Given the description of an element on the screen output the (x, y) to click on. 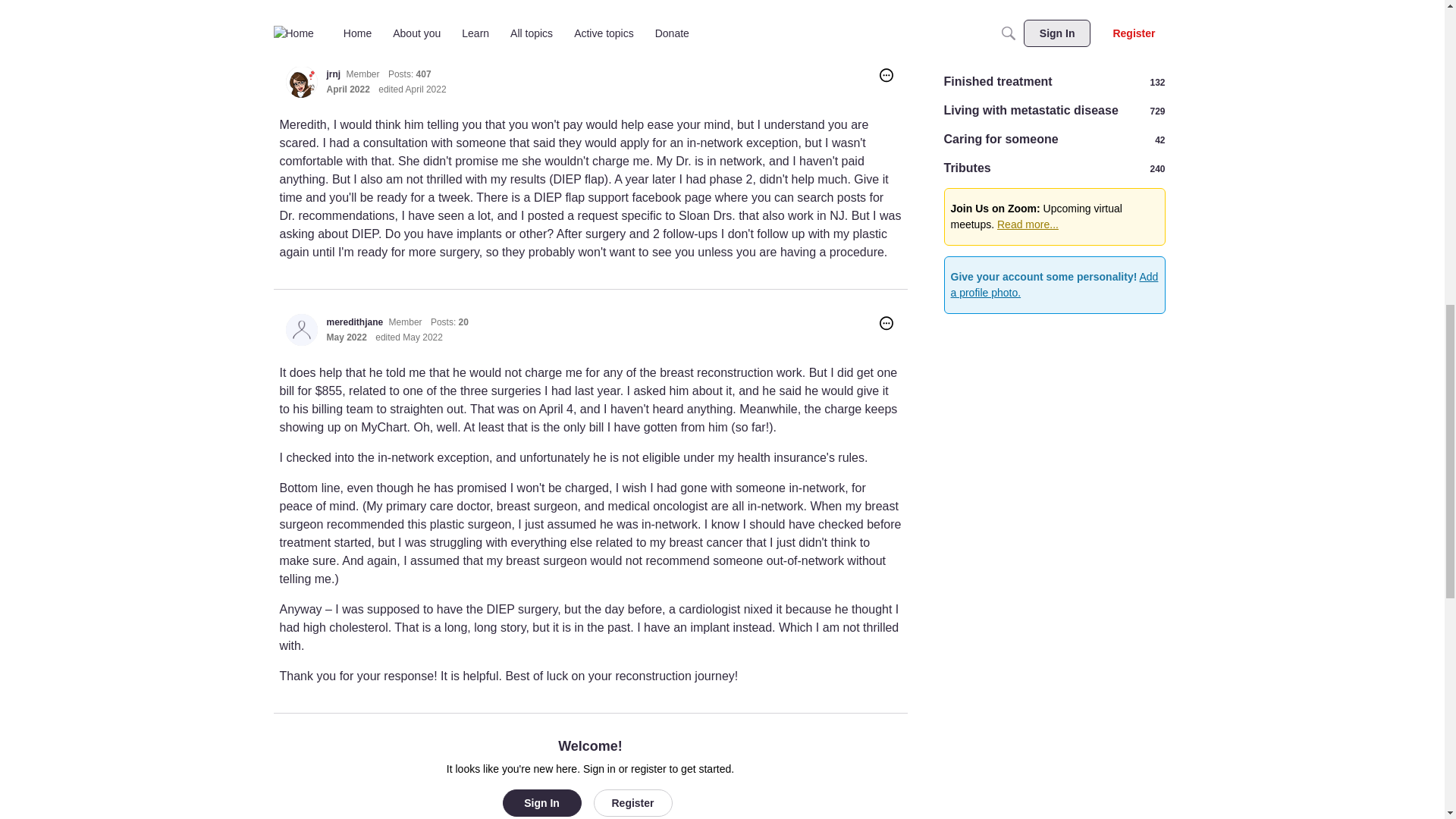
May 8, 2022 6:45PM (346, 337)
April 2022 (347, 89)
Register (631, 802)
Edited May 8, 2022 6:45PM. (408, 337)
Register (631, 802)
jrnj (301, 81)
jrnj (333, 73)
meredithjane (301, 329)
Sign In (541, 802)
April 27, 2022 1:47AM (347, 89)
Edited April 27, 2022 1:47AM. (411, 89)
Sign In (541, 802)
May 2022 (346, 337)
meredithjane (354, 321)
